Given the description of an element on the screen output the (x, y) to click on. 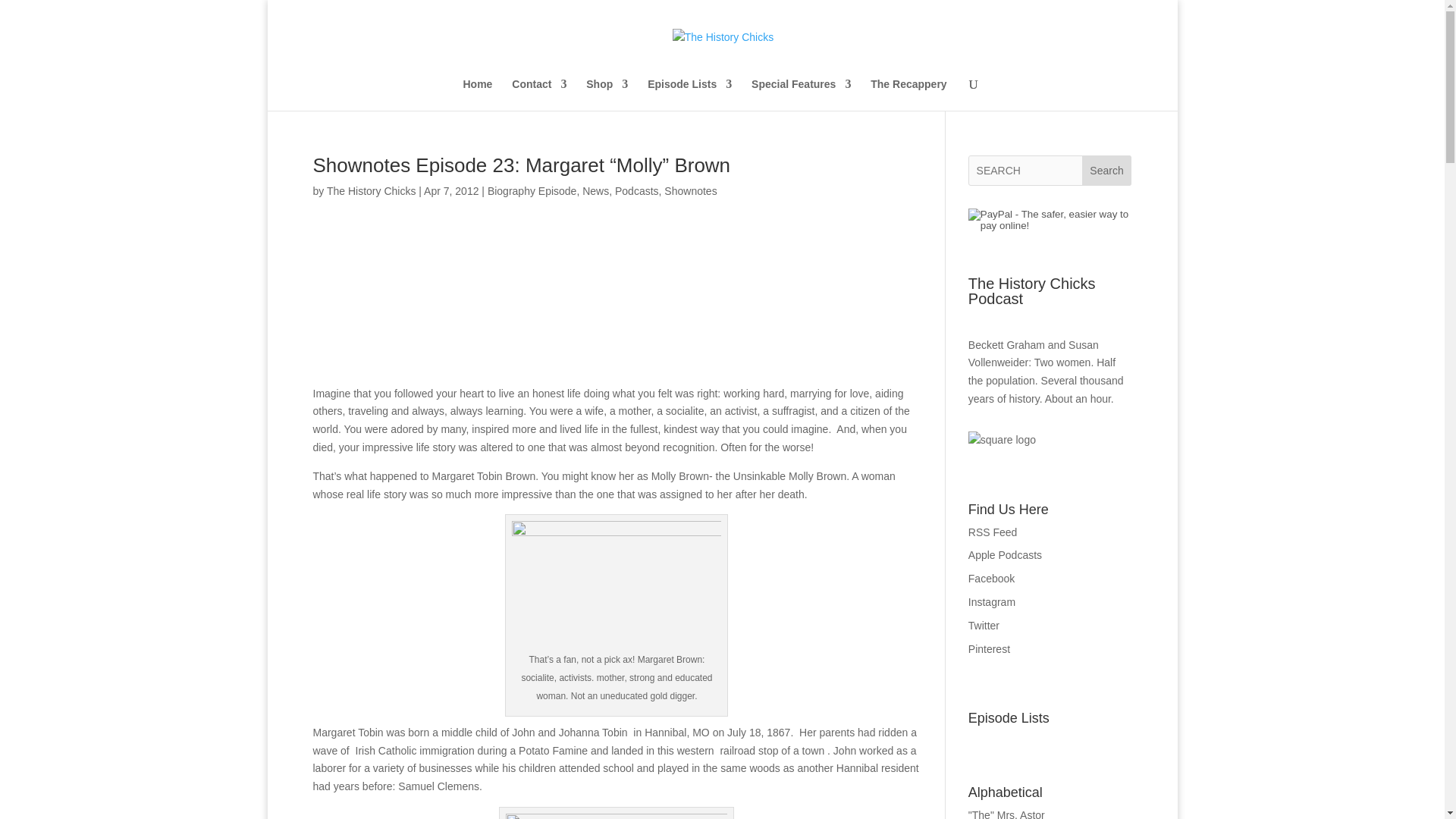
Special Features (800, 94)
Episode Lists (689, 94)
mB house 2 (615, 816)
Contact (539, 94)
Home (477, 94)
Posts by The History Chicks (370, 191)
MB Runs office (616, 585)
The Recappery (908, 94)
Shop (606, 94)
